Given the description of an element on the screen output the (x, y) to click on. 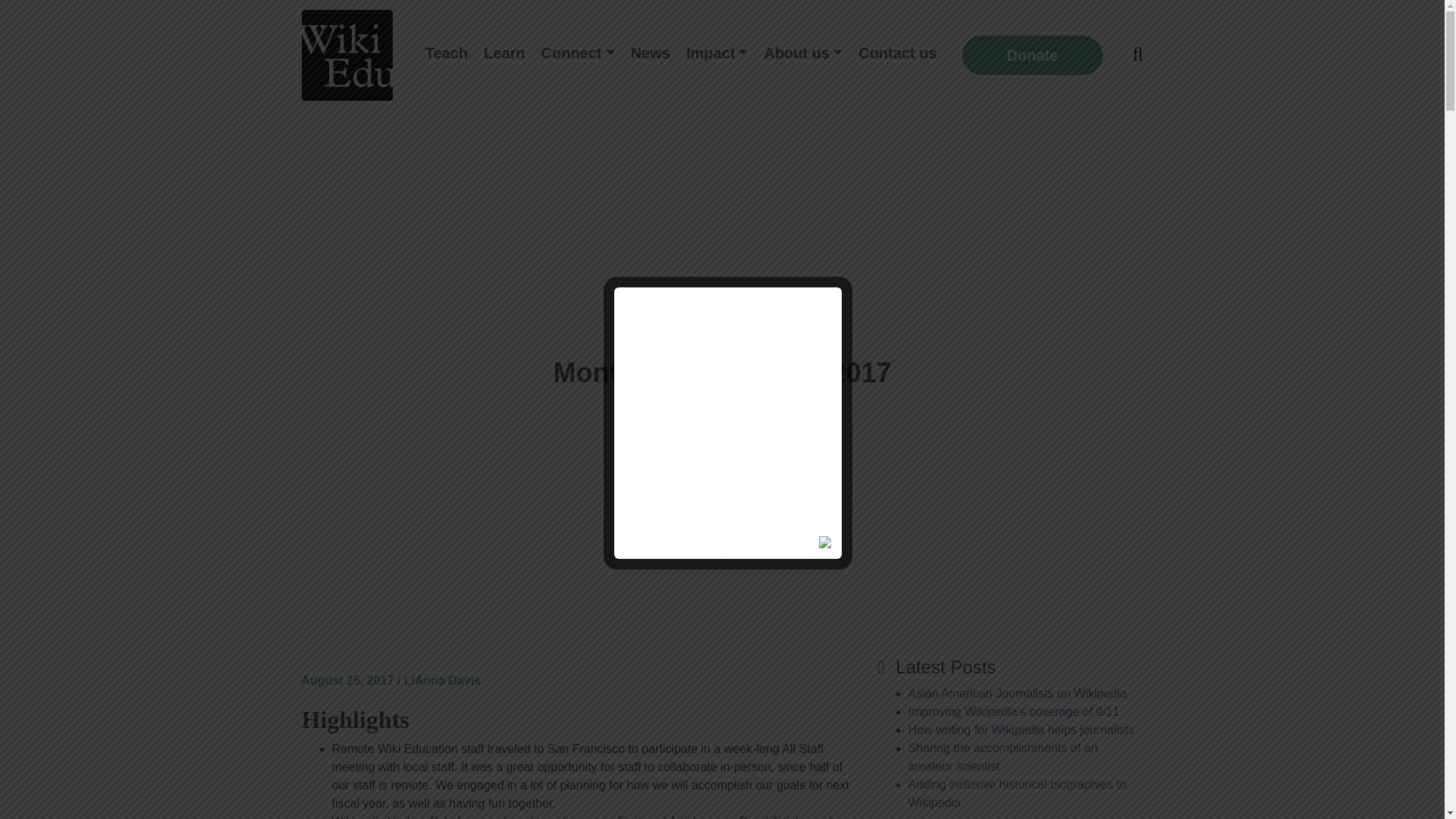
News (650, 53)
Learn (504, 53)
Impact (716, 53)
LiAnna Davis (442, 680)
Donate (1032, 54)
Teach (446, 53)
About us (802, 53)
Contact us (896, 53)
Impact (716, 53)
Teach (446, 53)
